Given the description of an element on the screen output the (x, y) to click on. 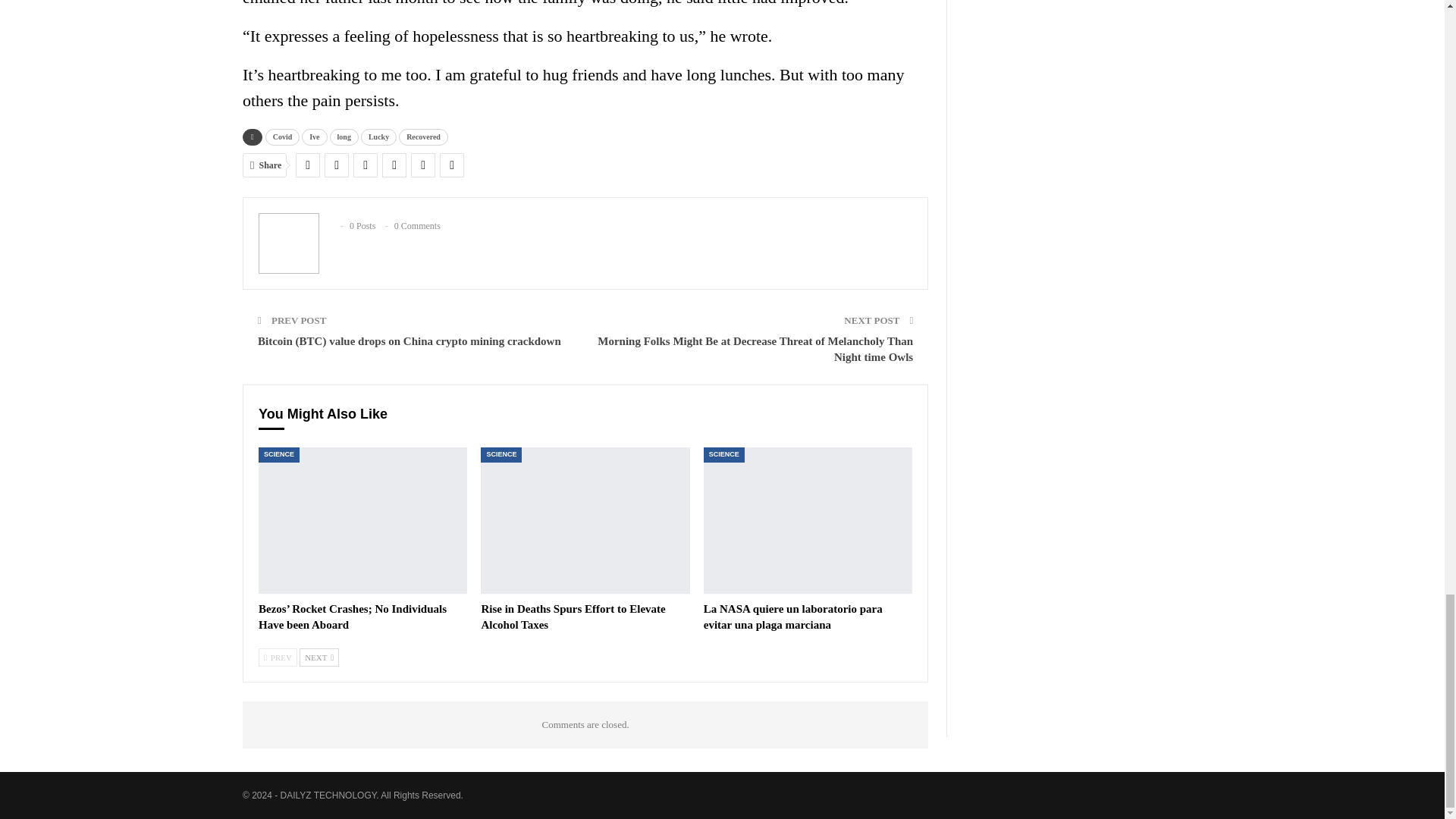
Recovered (423, 136)
Ive (313, 136)
Lucky (378, 136)
La NASA quiere un laboratorio para evitar una plaga marciana (792, 616)
Rise in Deaths Spurs Effort to Elevate Alcohol Taxes (584, 520)
Rise in Deaths Spurs Effort to Elevate Alcohol Taxes (572, 616)
long (344, 136)
Covid (281, 136)
La NASA quiere un laboratorio para evitar una plaga marciana (807, 520)
